Given the description of an element on the screen output the (x, y) to click on. 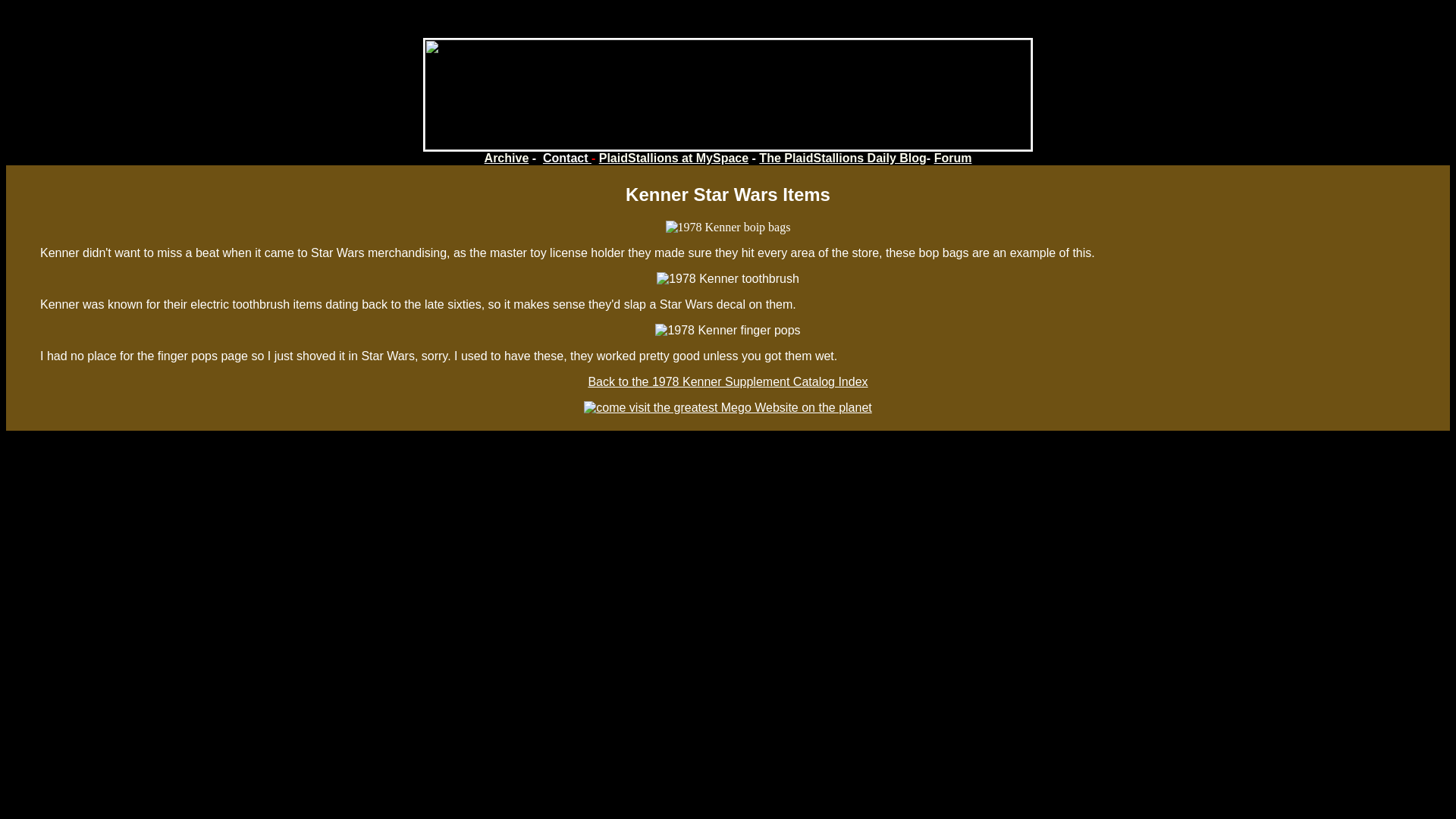
The PlaidStallions Daily Blog (842, 157)
Back to the 1978 Kenner Supplement Catalog Index (727, 381)
Archive (506, 157)
PlaidStallions at MySpace (673, 157)
Forum (953, 157)
come visit the greatest Mego Website on the planet (726, 407)
Contact (567, 157)
